Given the description of an element on the screen output the (x, y) to click on. 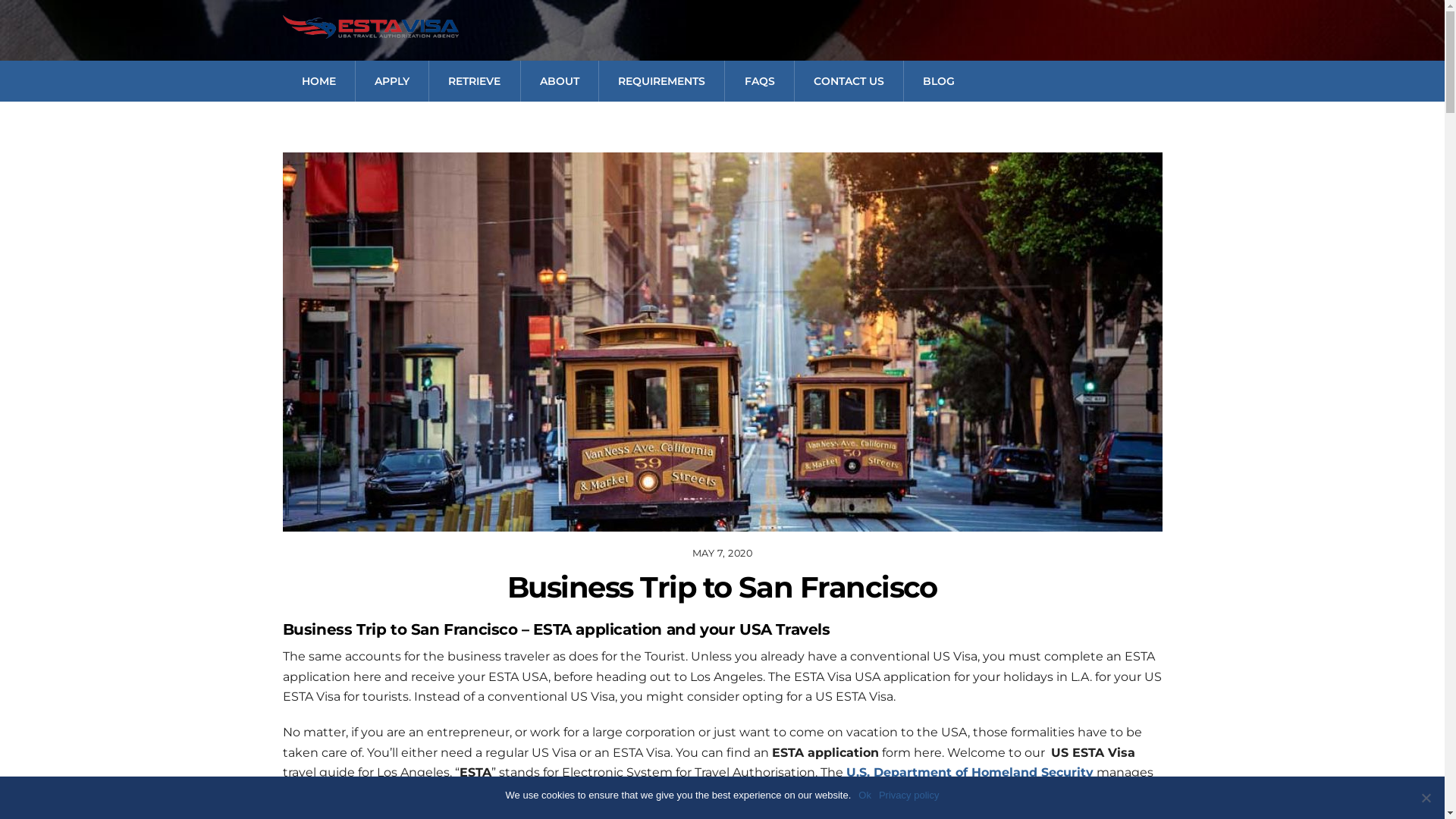
Privacy policy Element type: text (908, 795)
RETRIEVE Element type: text (473, 80)
logo-header Element type: hover (370, 26)
BLOG Element type: text (938, 80)
No Element type: hover (1425, 797)
CONTACT US Element type: text (848, 80)
APPLY Element type: text (391, 80)
U.S. Department of Homeland Security Element type: text (969, 772)
san-francisco-cable-cars-2 Element type: hover (721, 341)
My Esta Visa Element type: hover (370, 30)
Ok Element type: text (864, 795)
REQUIREMENTS Element type: text (661, 80)
ABOUT Element type: text (559, 80)
FAQS Element type: text (758, 80)
HOME Element type: text (318, 80)
